Given the description of an element on the screen output the (x, y) to click on. 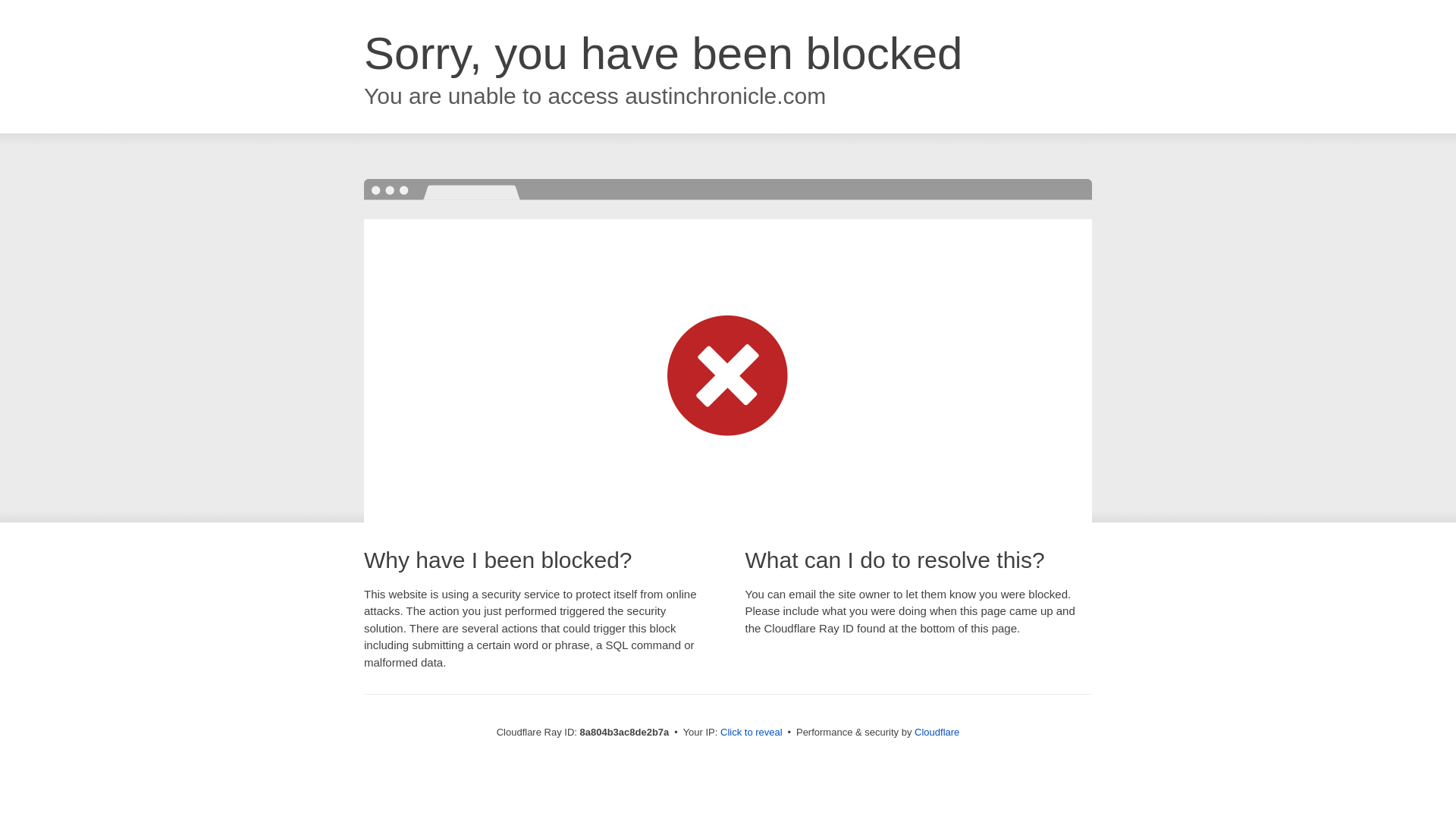
Click to reveal (751, 732)
Cloudflare (936, 731)
